Given the description of an element on the screen output the (x, y) to click on. 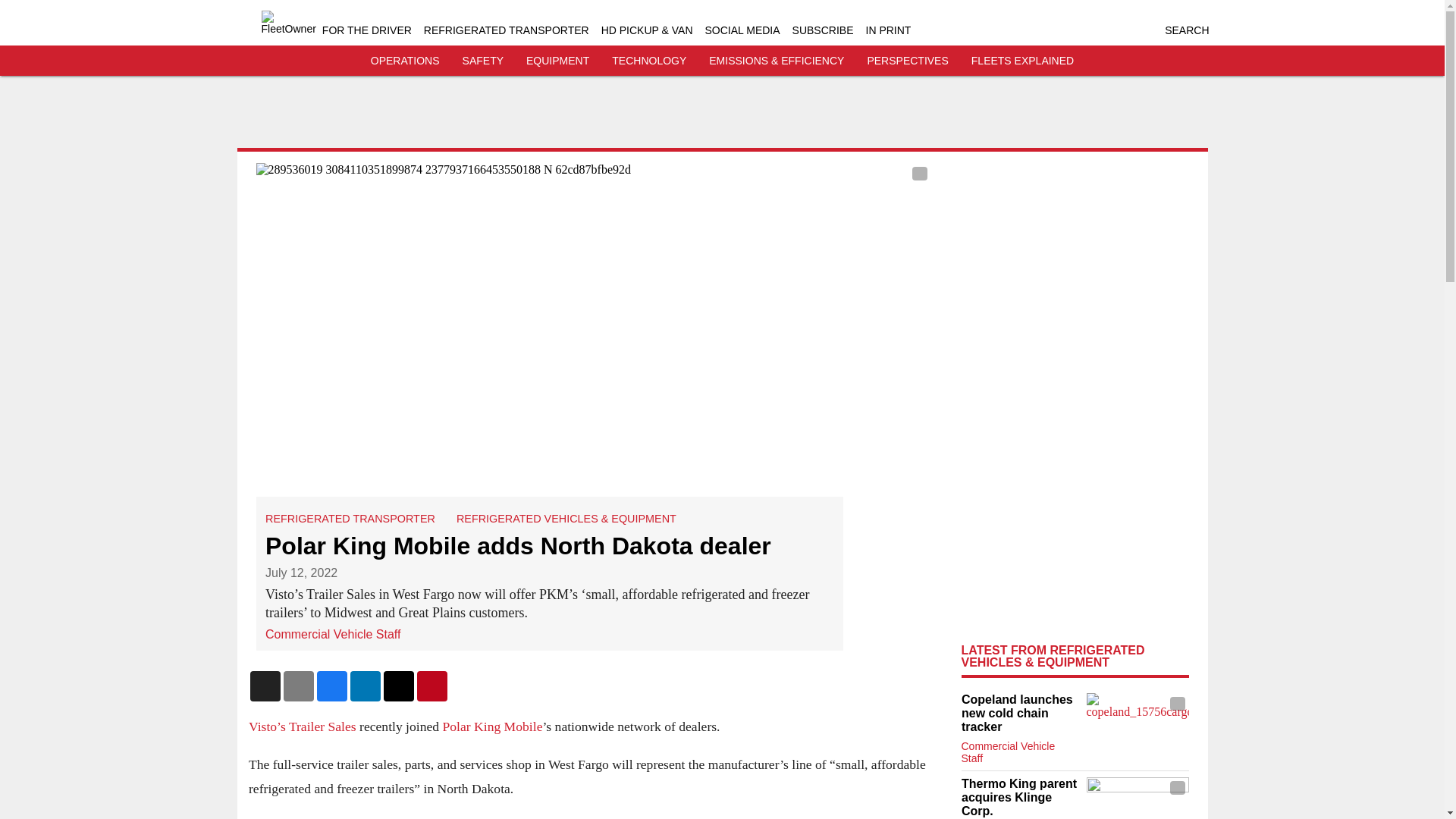
EQUIPMENT (557, 60)
SAFETY (483, 60)
REFRIGERATED TRANSPORTER (506, 30)
FLEETS EXPLAINED (1022, 60)
OPERATIONS (405, 60)
REFRIGERATED TRANSPORTER (349, 518)
PERSPECTIVES (906, 60)
Polar King Mobile (491, 726)
SOCIAL MEDIA (742, 30)
